Given the description of an element on the screen output the (x, y) to click on. 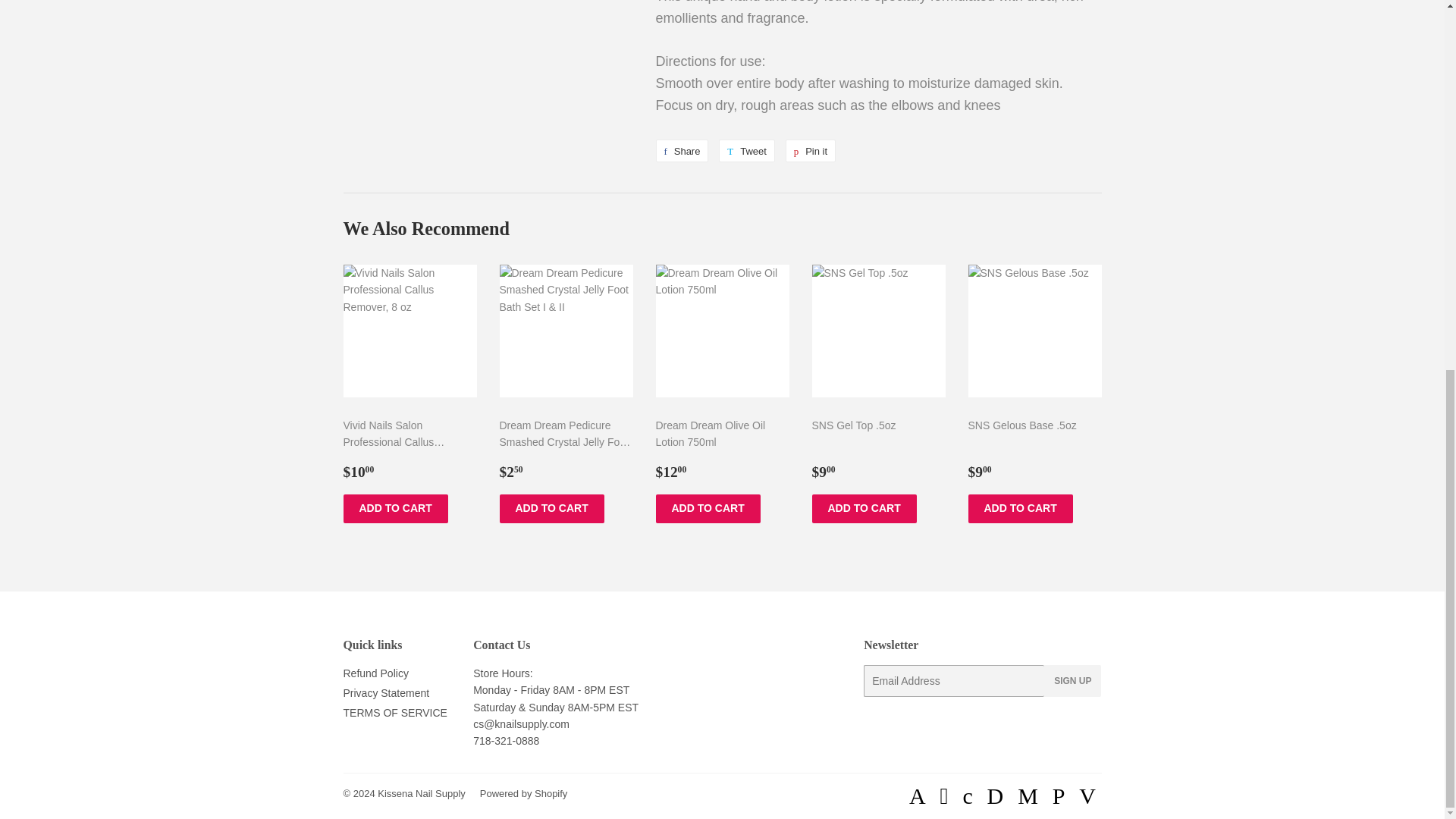
Add to Cart (862, 508)
Share on Facebook (681, 150)
Tweet on Twitter (746, 150)
Add to Cart (1019, 508)
Add to Cart (551, 508)
Add to Cart (707, 508)
Pin on Pinterest (810, 150)
Add to Cart (394, 508)
